Given the description of an element on the screen output the (x, y) to click on. 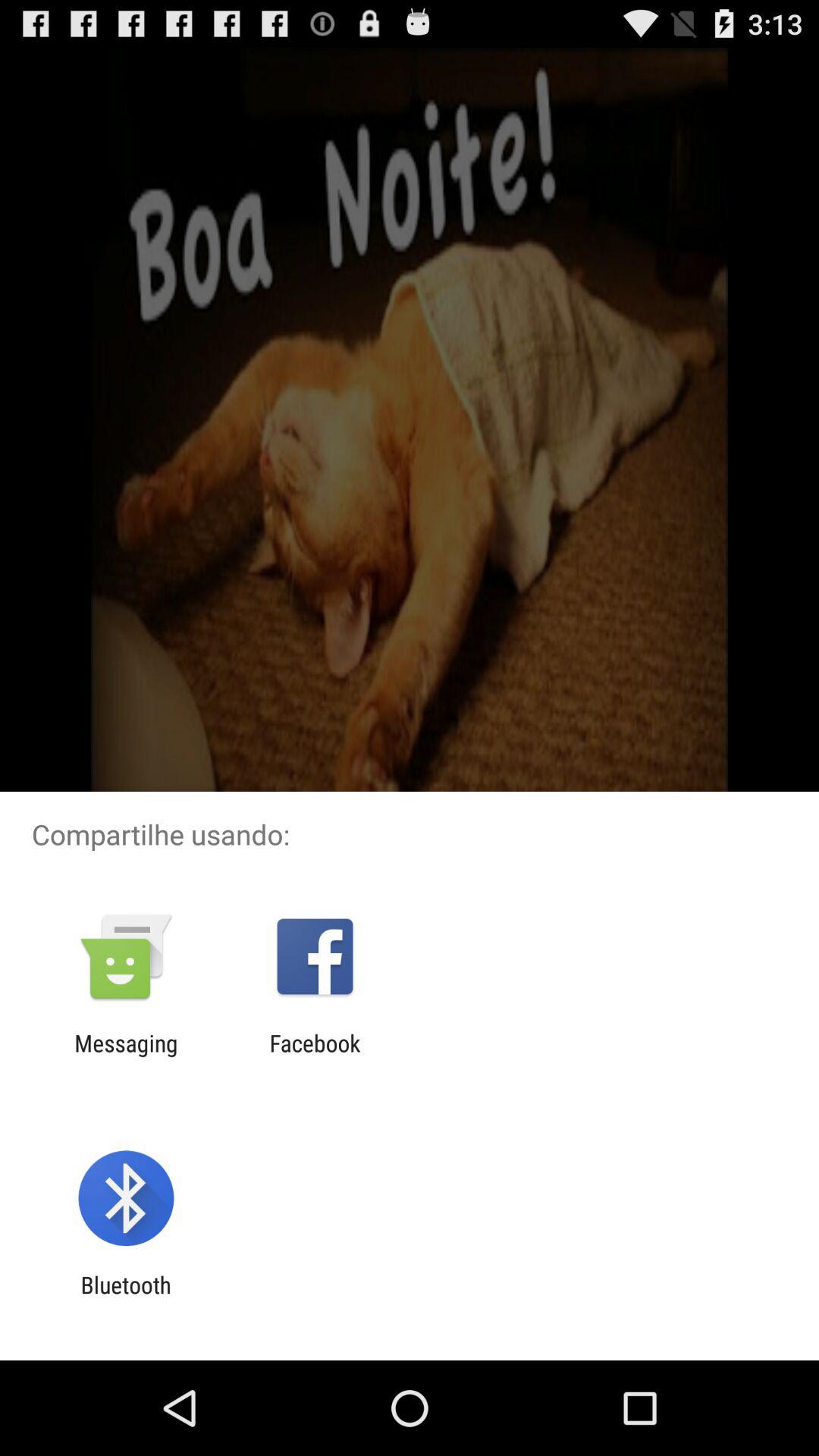
choose facebook icon (314, 1056)
